Given the description of an element on the screen output the (x, y) to click on. 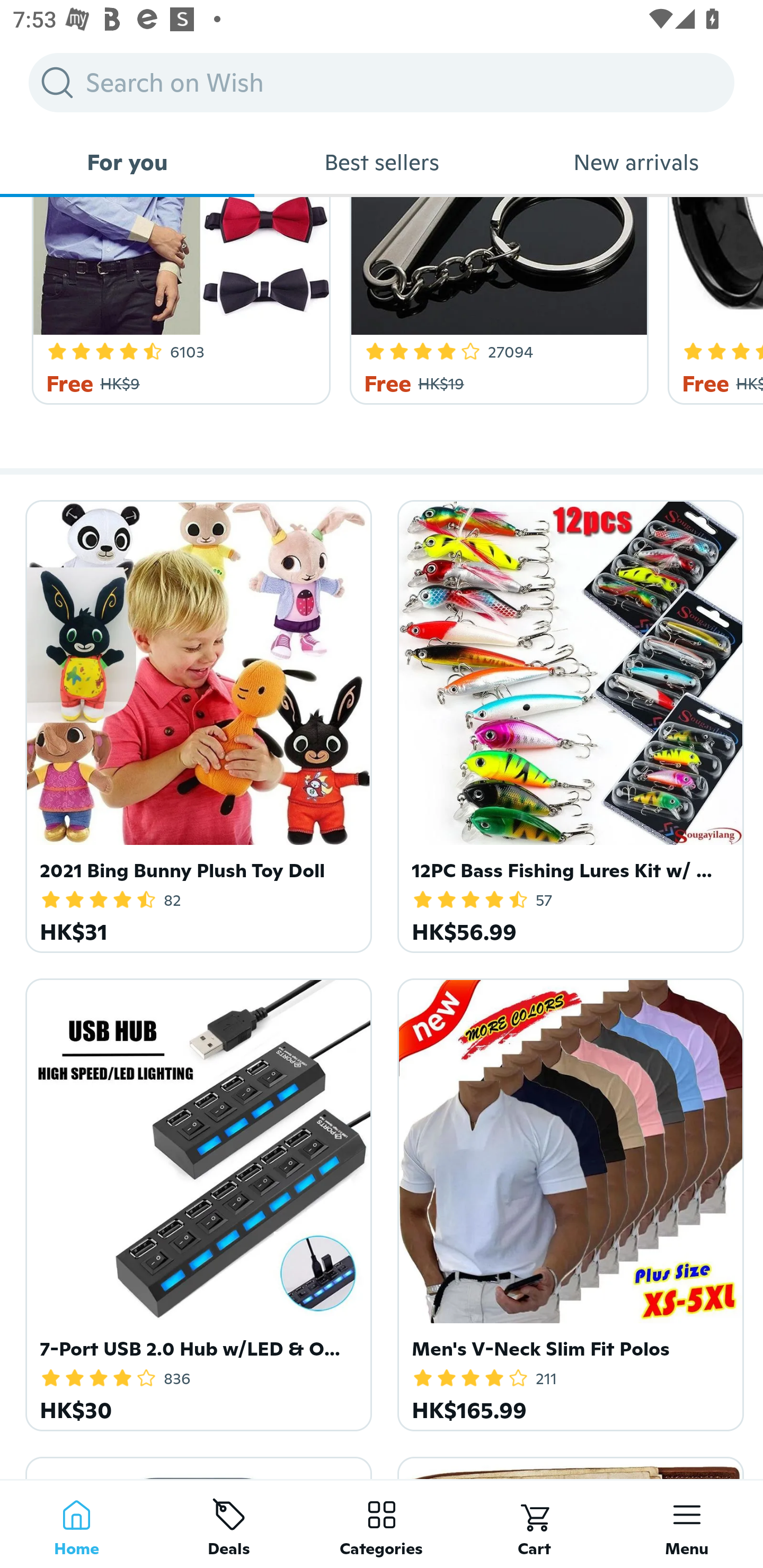
Search on Wish (381, 82)
For you (127, 161)
Best sellers (381, 161)
New arrivals (635, 161)
4.4 Star Rating 6103 Free HK$9 (177, 300)
4 Star Rating 27094 Free HK$19 (495, 300)
Home (76, 1523)
Deals (228, 1523)
Categories (381, 1523)
Cart (533, 1523)
Menu (686, 1523)
